Given the description of an element on the screen output the (x, y) to click on. 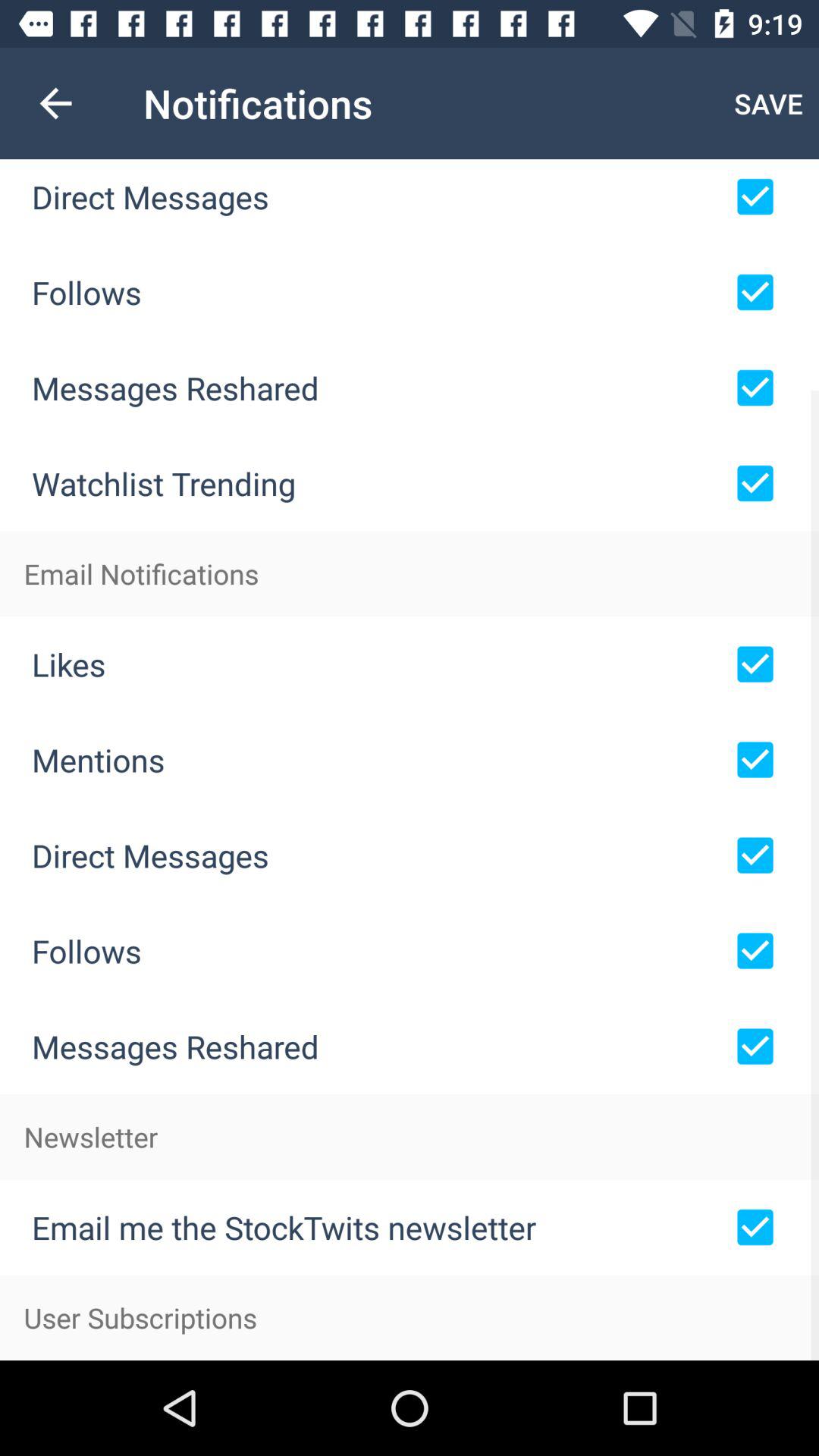
swipe until save item (768, 103)
